Given the description of an element on the screen output the (x, y) to click on. 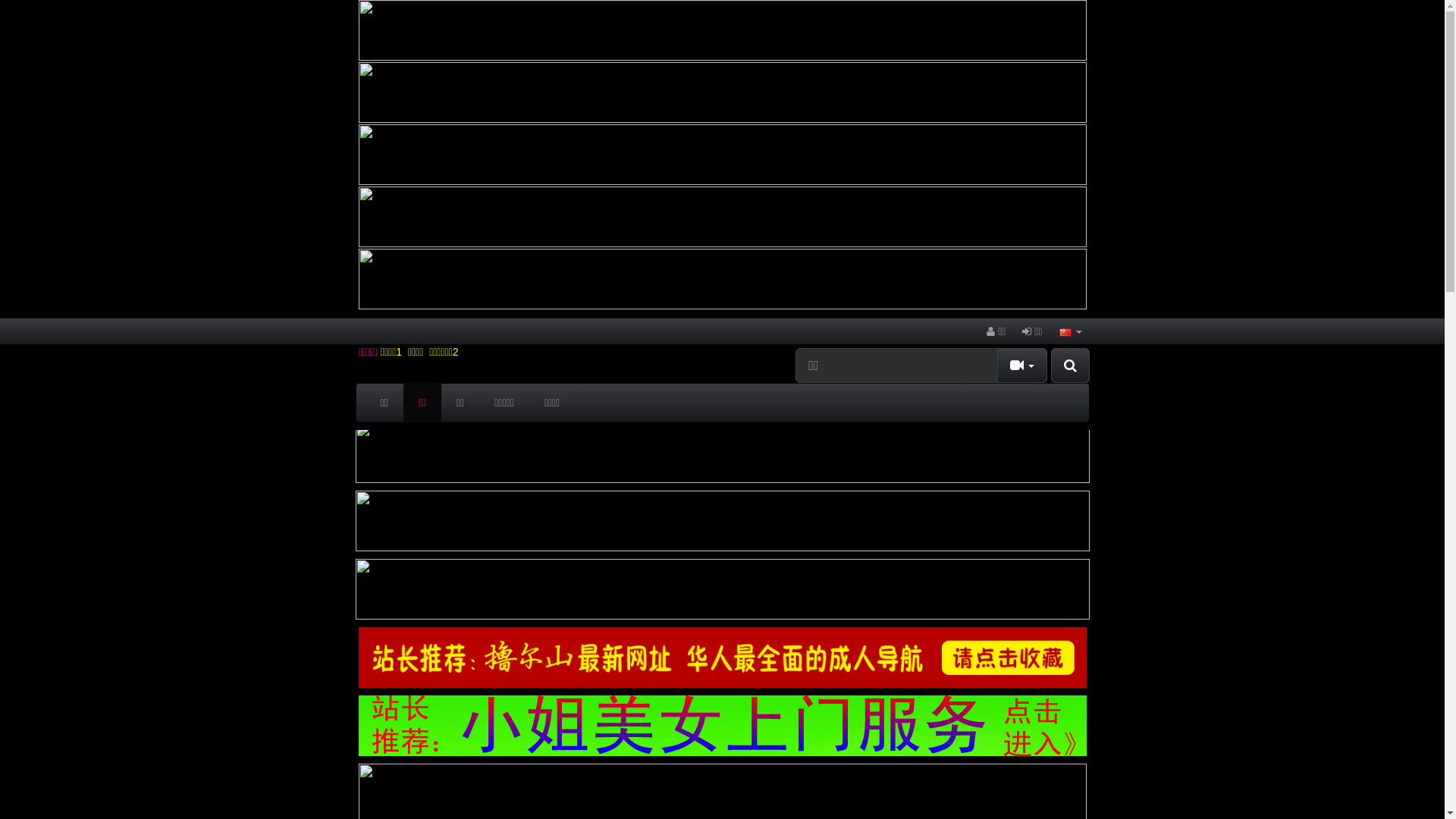
Toggle Dropdown Element type: text (1021, 365)
